Given the description of an element on the screen output the (x, y) to click on. 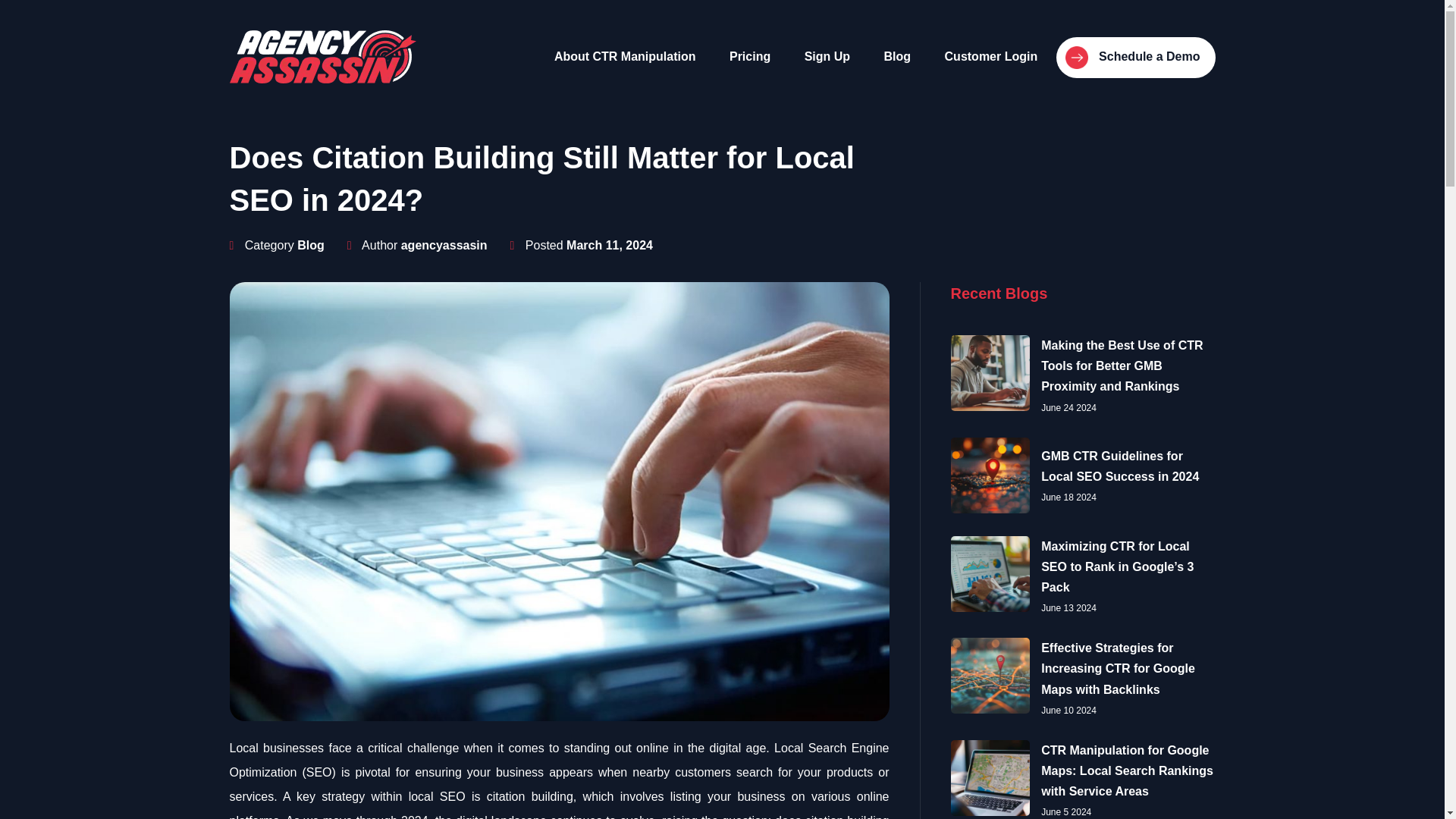
Schedule a Demo (1136, 56)
Pricing (750, 56)
GMB CTR Guidelines for Local SEO Success in 2024 (1119, 466)
Customer Login (991, 56)
Blog (897, 56)
Blog (310, 245)
Sign Up (826, 56)
About CTR Manipulation (624, 56)
